Given the description of an element on the screen output the (x, y) to click on. 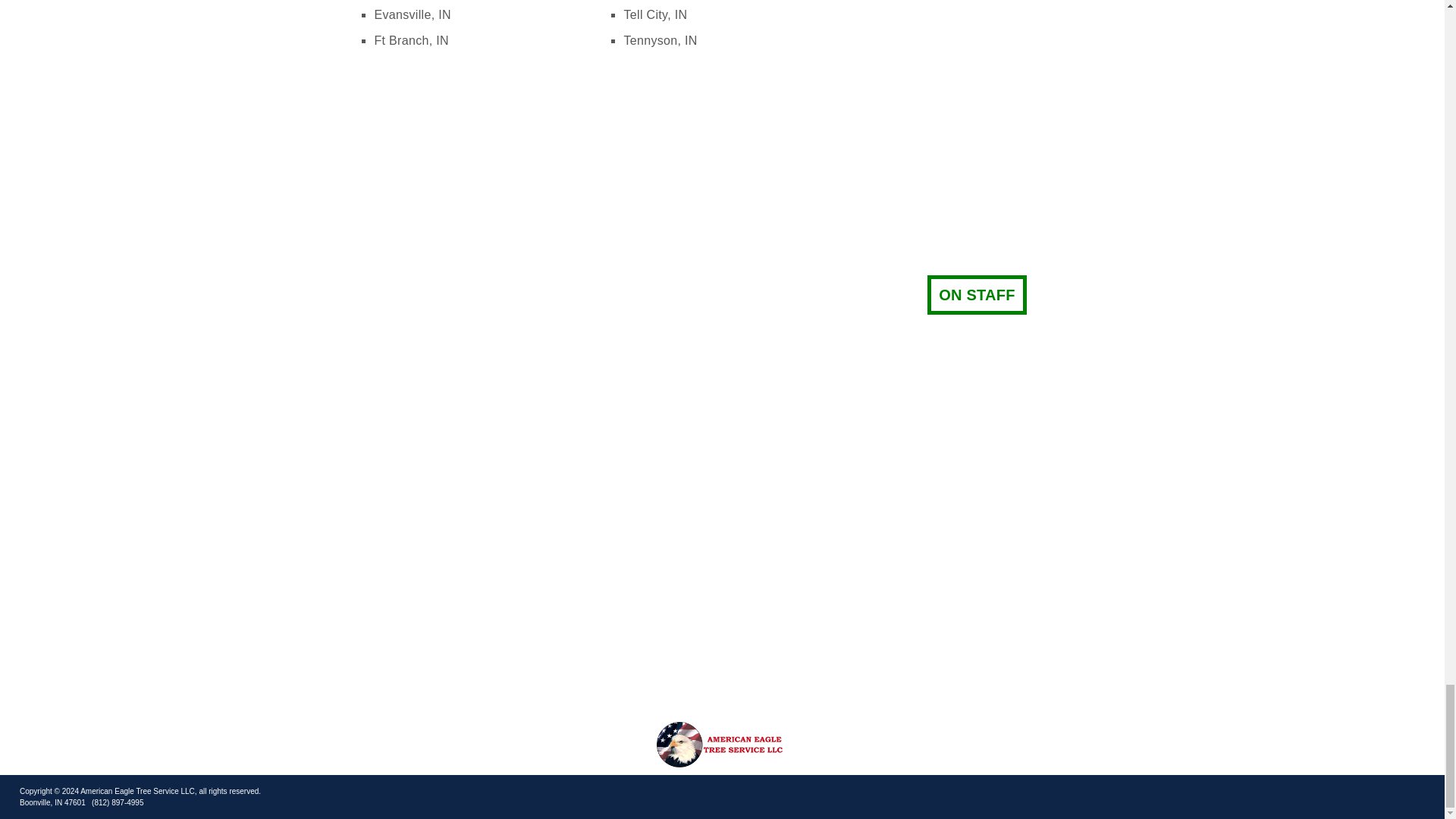
American Eagle Tree Services LLC (721, 744)
